Given the description of an element on the screen output the (x, y) to click on. 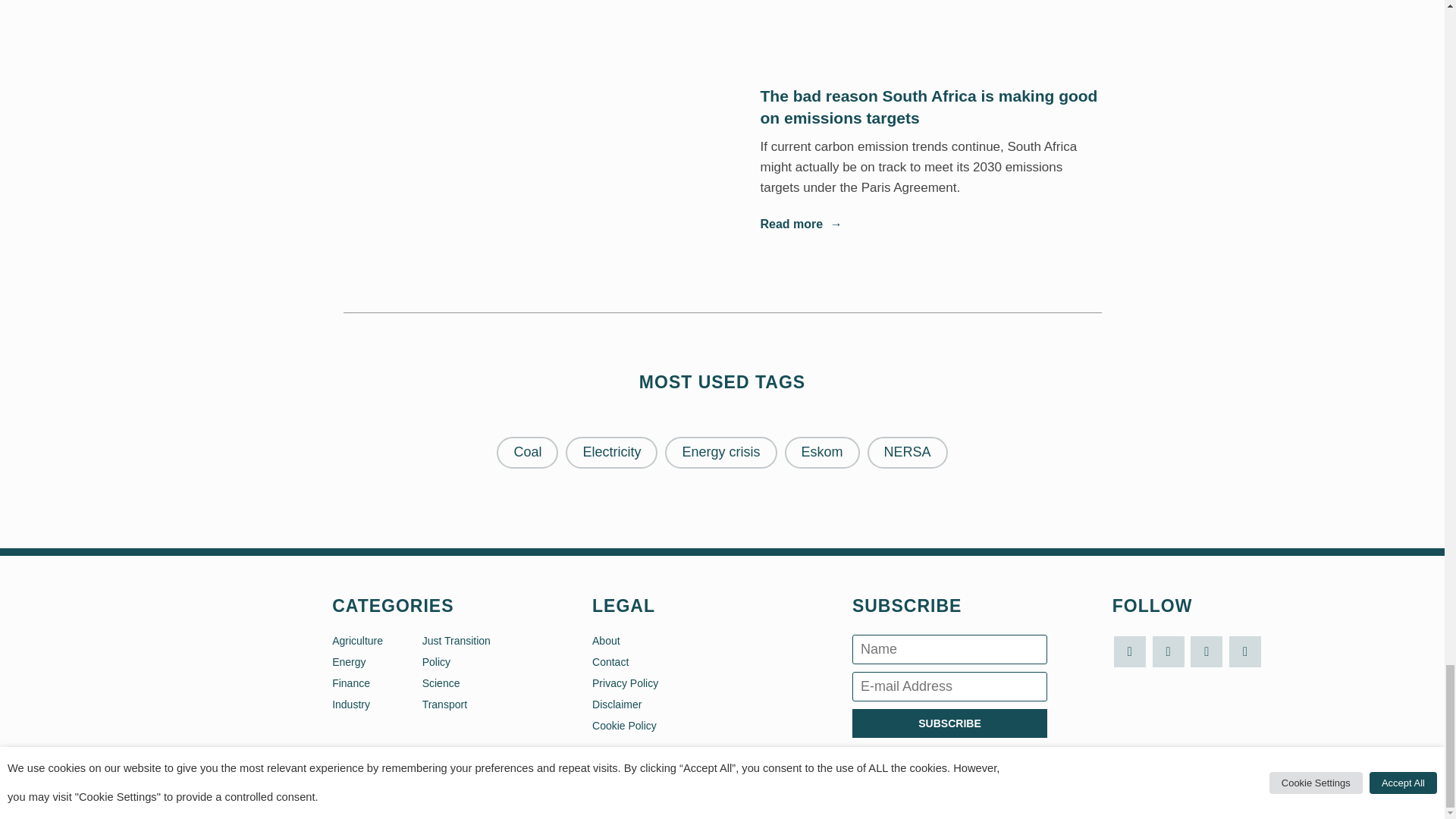
Eskom (822, 452)
Coal (526, 452)
NERSA (907, 452)
Electricity (612, 452)
Coal (526, 452)
Energy crisis (720, 452)
Subscribe (948, 723)
